Given the description of an element on the screen output the (x, y) to click on. 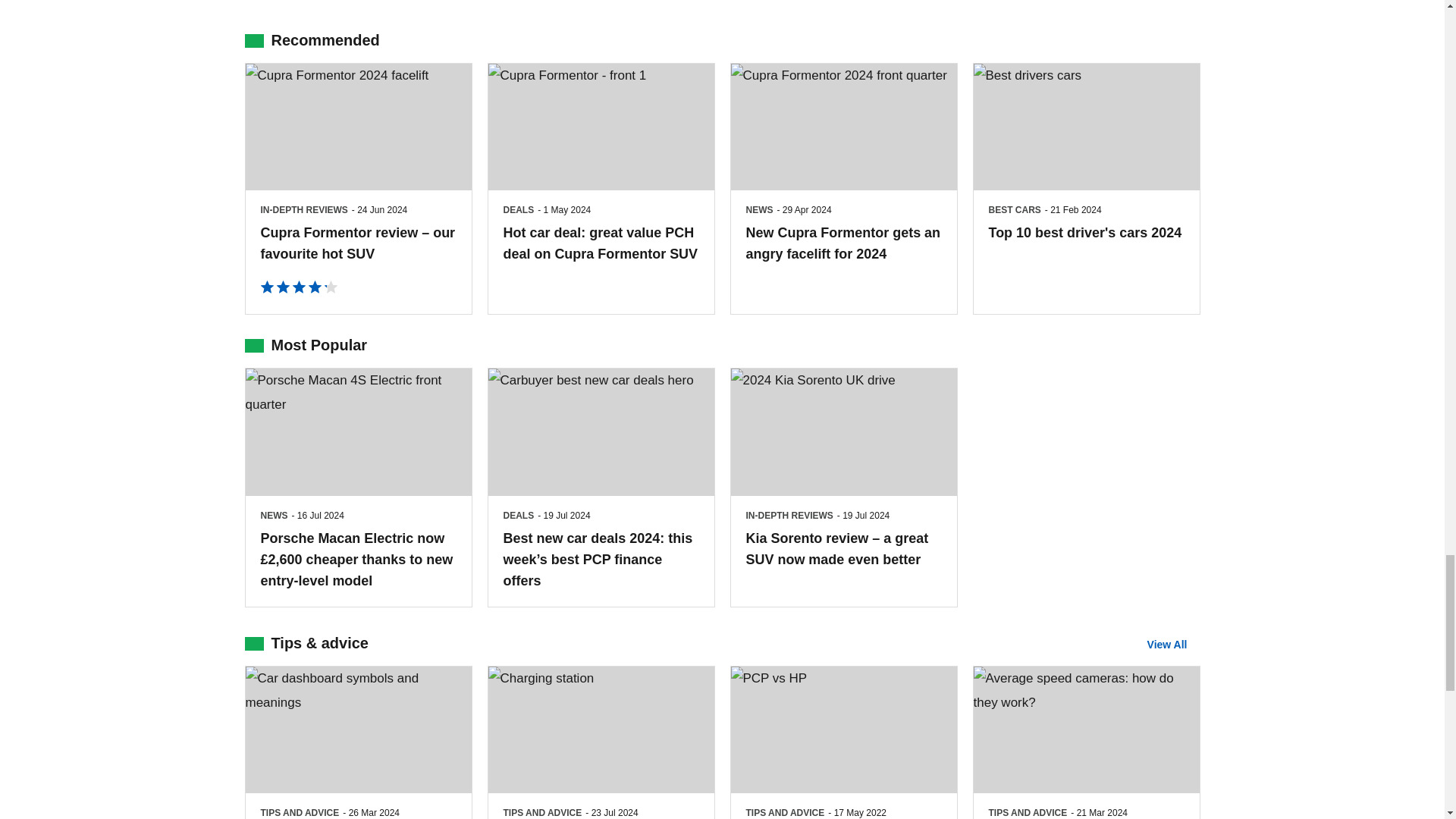
4.2 Stars (298, 289)
